Given the description of an element on the screen output the (x, y) to click on. 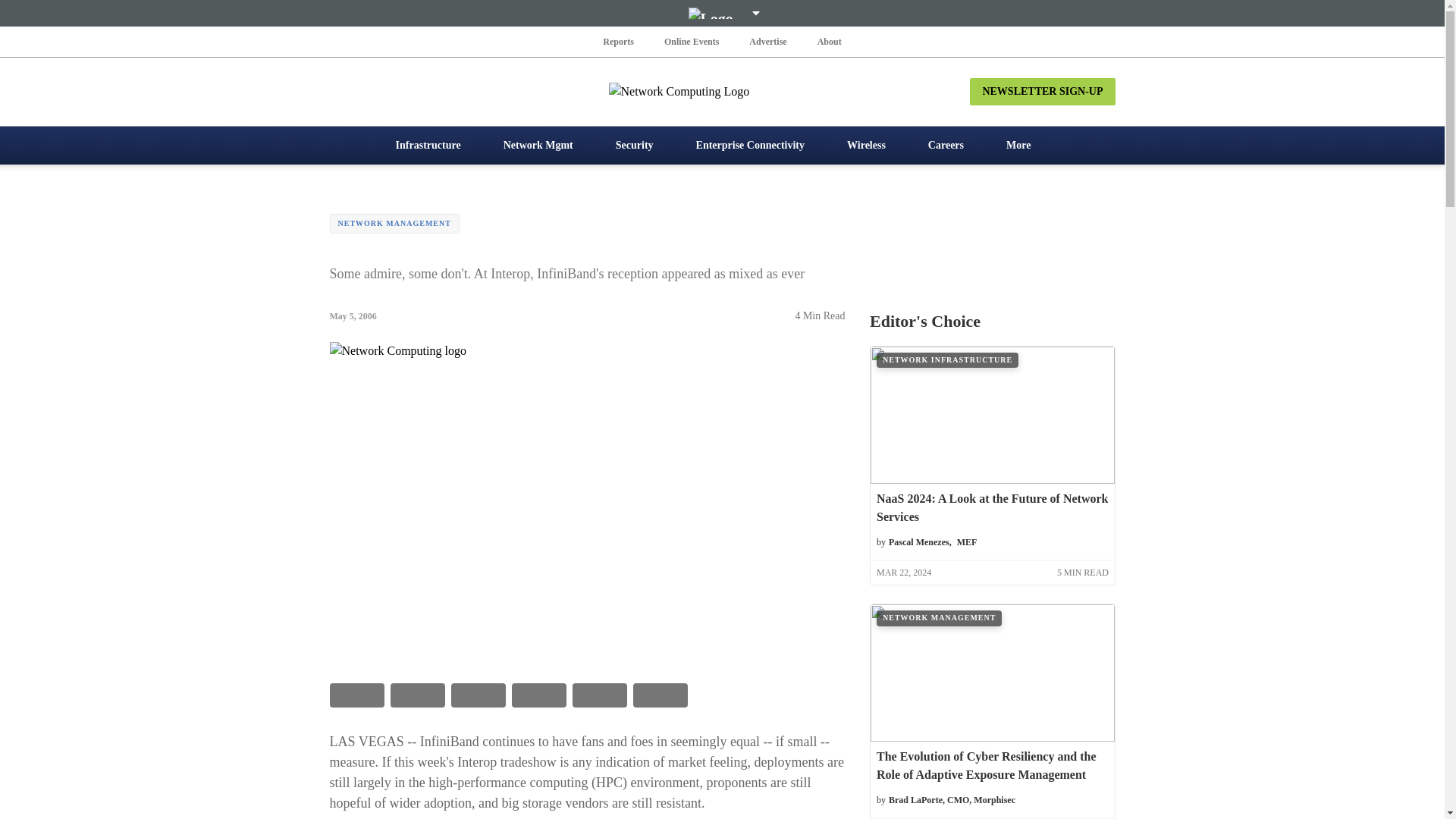
NEWSLETTER SIGN-UP (1042, 90)
Network Computing Logo (721, 91)
About (828, 41)
Online Events (691, 41)
Advertise (767, 41)
Reports (618, 41)
